Given the description of an element on the screen output the (x, y) to click on. 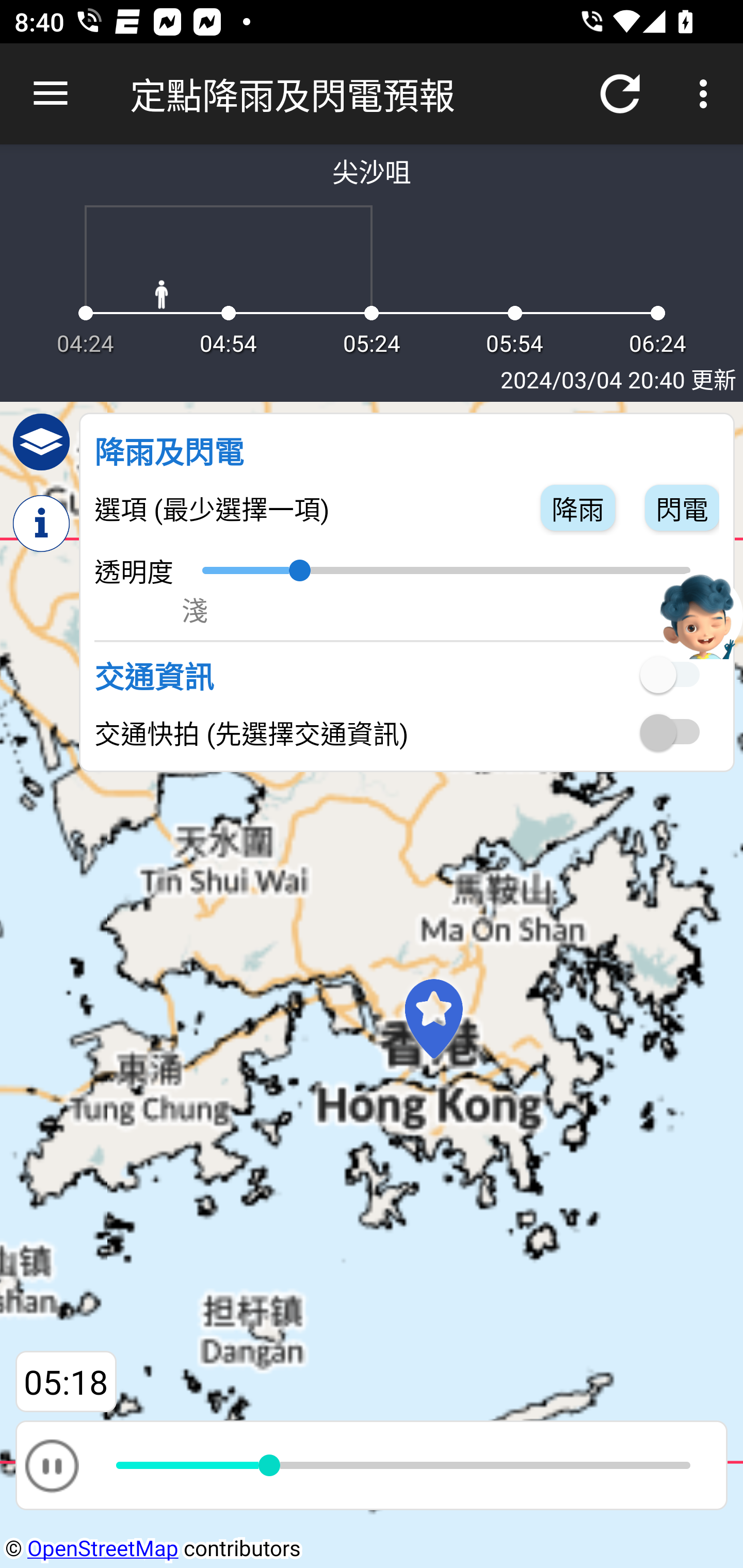
向上瀏覽 (50, 93)
重新整理 (619, 93)
更多選項 (706, 93)
已選擇 圖層 (40, 441)
降雨 已開啟 降雨 (577, 506)
閃電 已開啟 閃電 (681, 506)
選擇 說明 (40, 523)
聊天機械人 (699, 614)
05:18 (65, 1381)
暫停 4.0 (371, 1464)
暫停 (50, 1464)
